Given the description of an element on the screen output the (x, y) to click on. 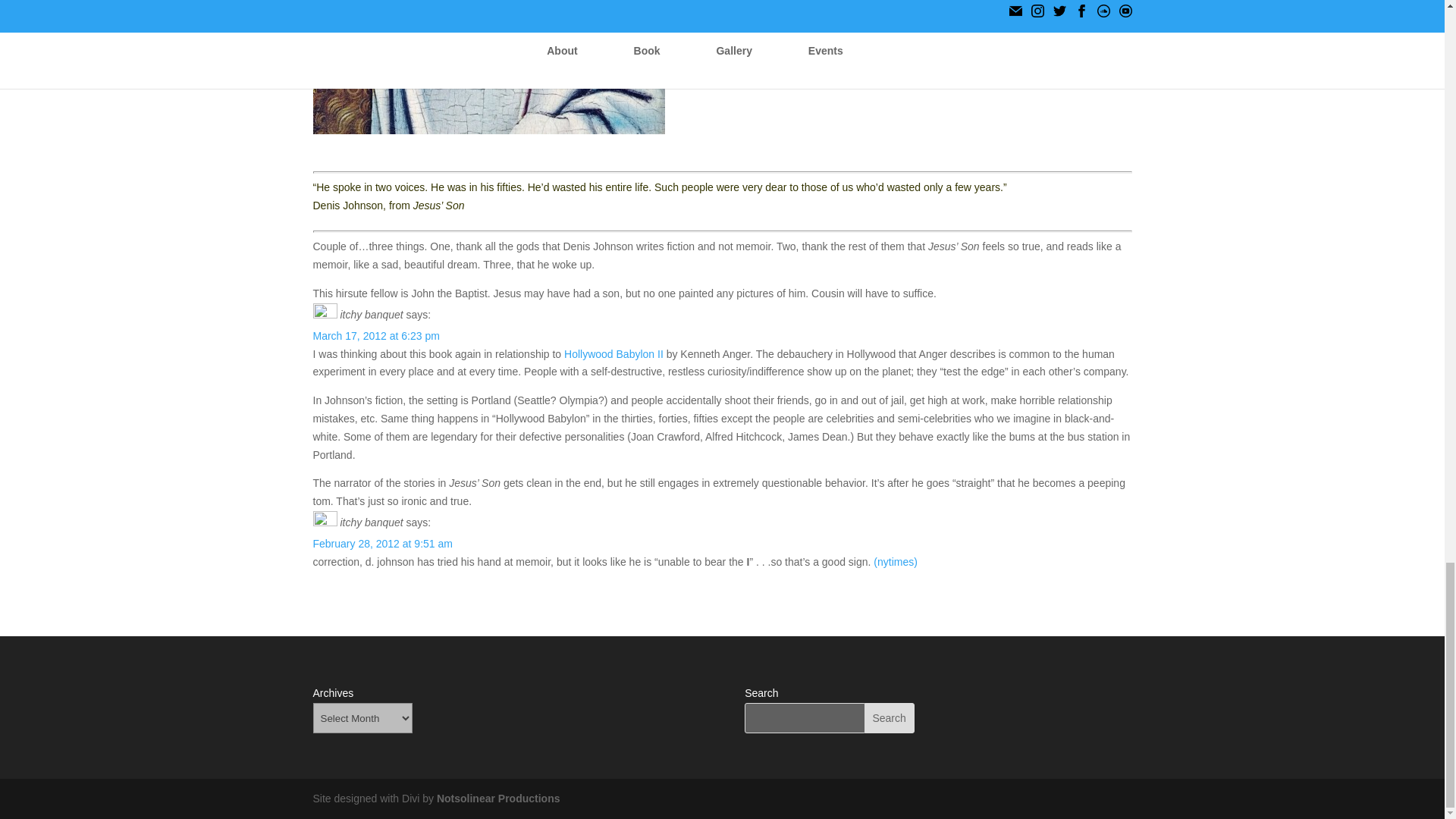
johnthebaptist (488, 67)
February 28, 2012 at 9:51 am (382, 543)
Hollywood Babylon II (615, 354)
March 17, 2012 at 6:23 pm (376, 336)
